Given the description of an element on the screen output the (x, y) to click on. 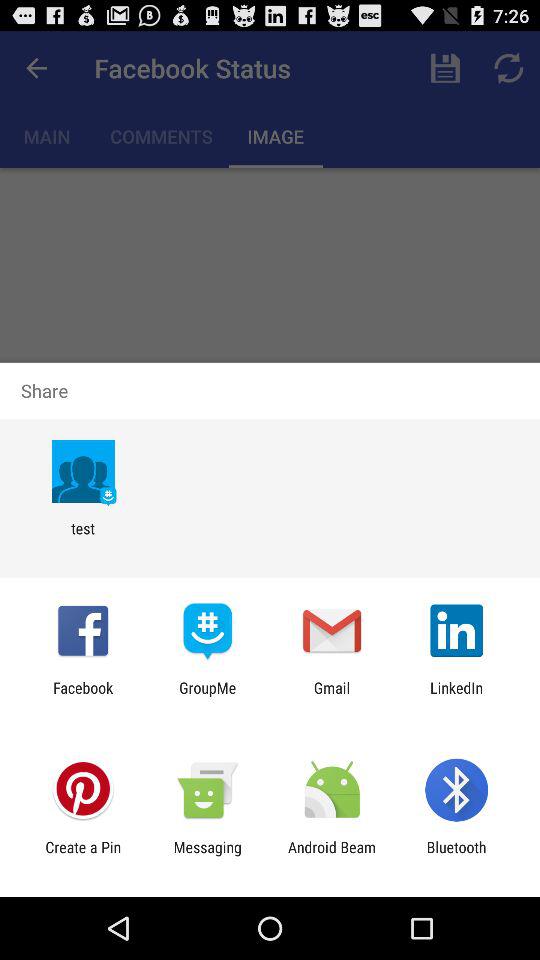
jump until linkedin app (456, 696)
